Given the description of an element on the screen output the (x, y) to click on. 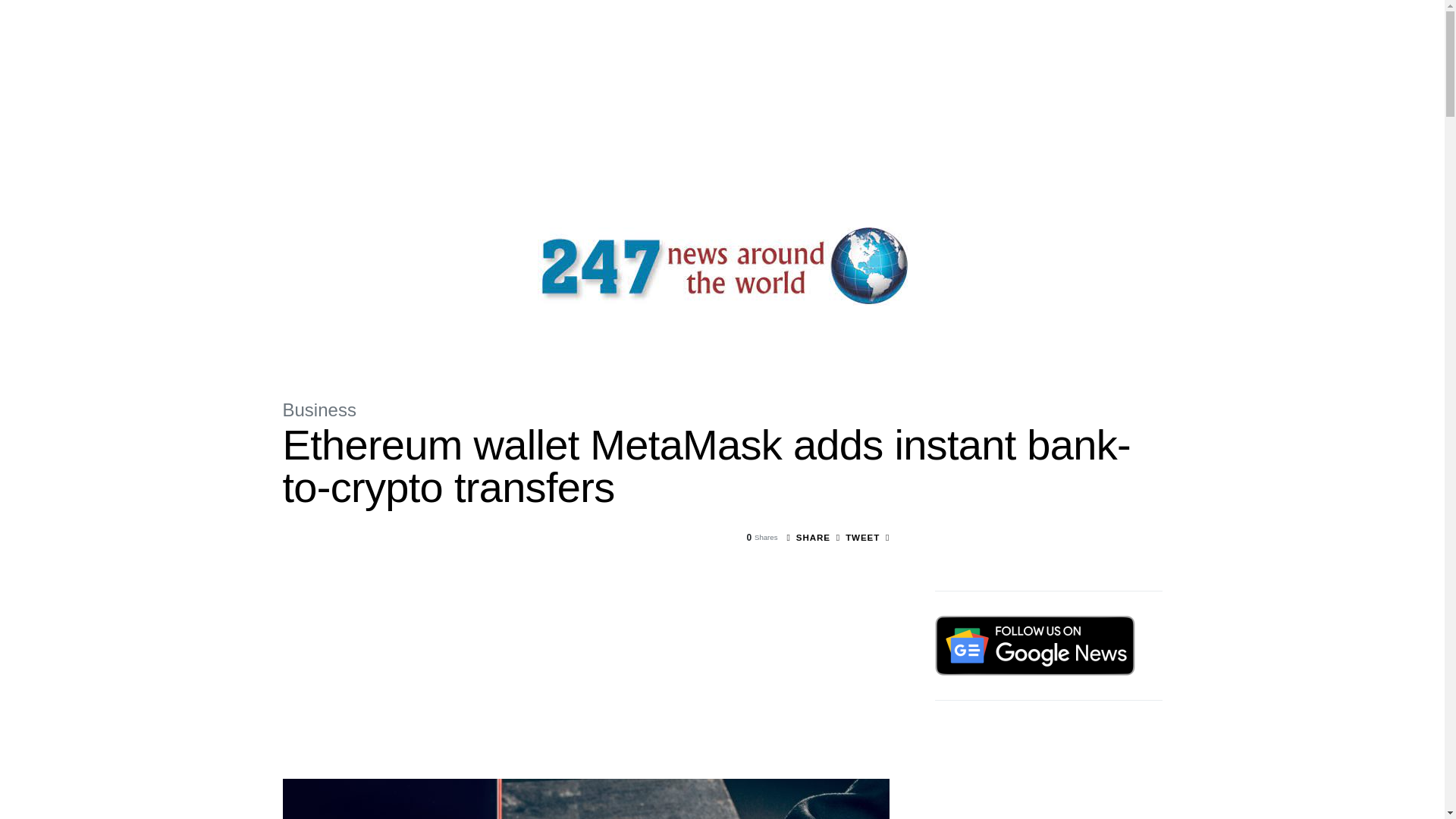
ENTERTAINMENT (533, 343)
Advertisement (585, 672)
Advertisement (1047, 771)
SPORTS (604, 343)
HEALTH (655, 343)
